Given the description of an element on the screen output the (x, y) to click on. 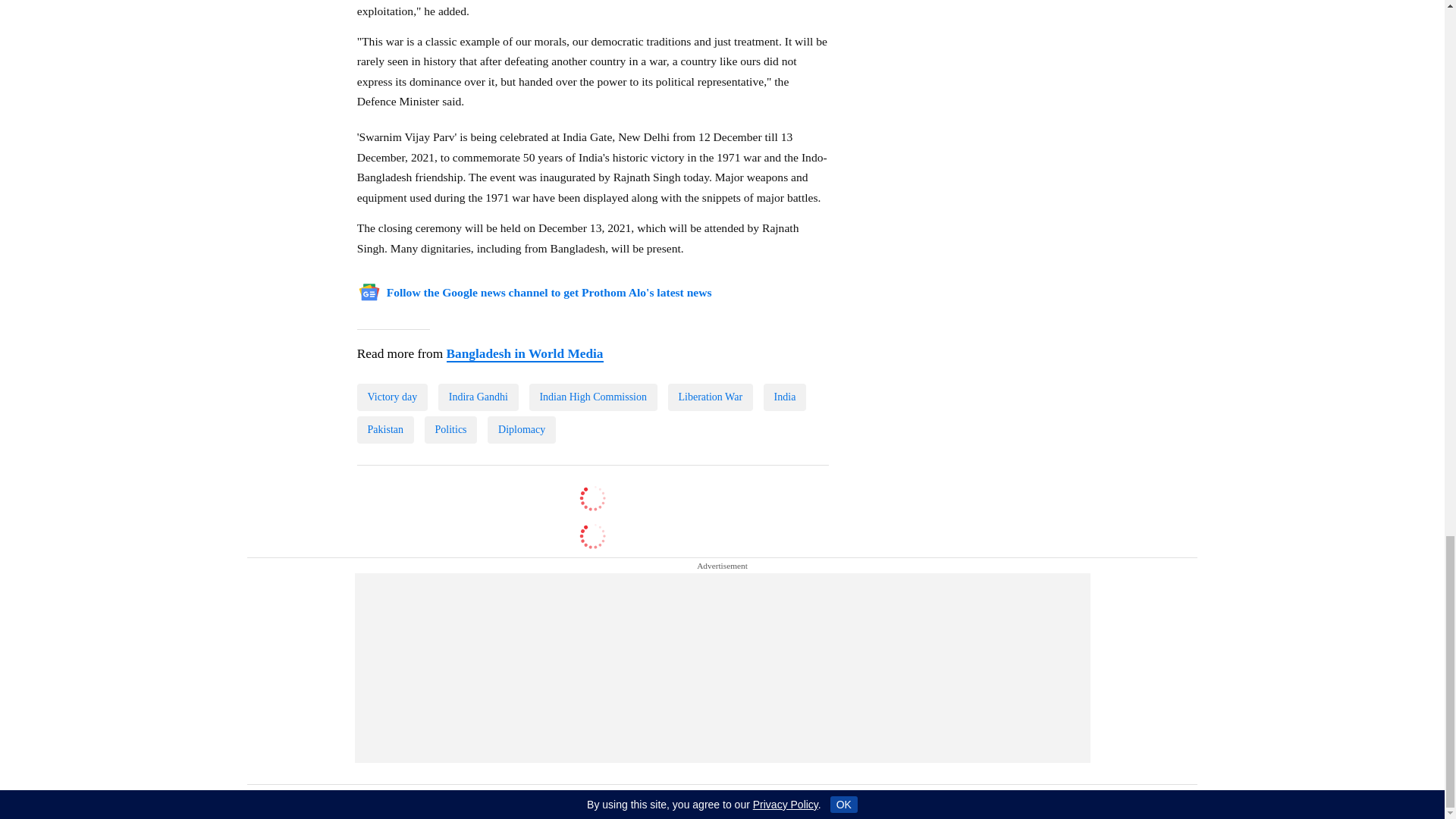
Indira Gandhi (478, 340)
Indian High Commission (593, 340)
Victory day (392, 340)
Bangladesh in World Media (523, 297)
